Given the description of an element on the screen output the (x, y) to click on. 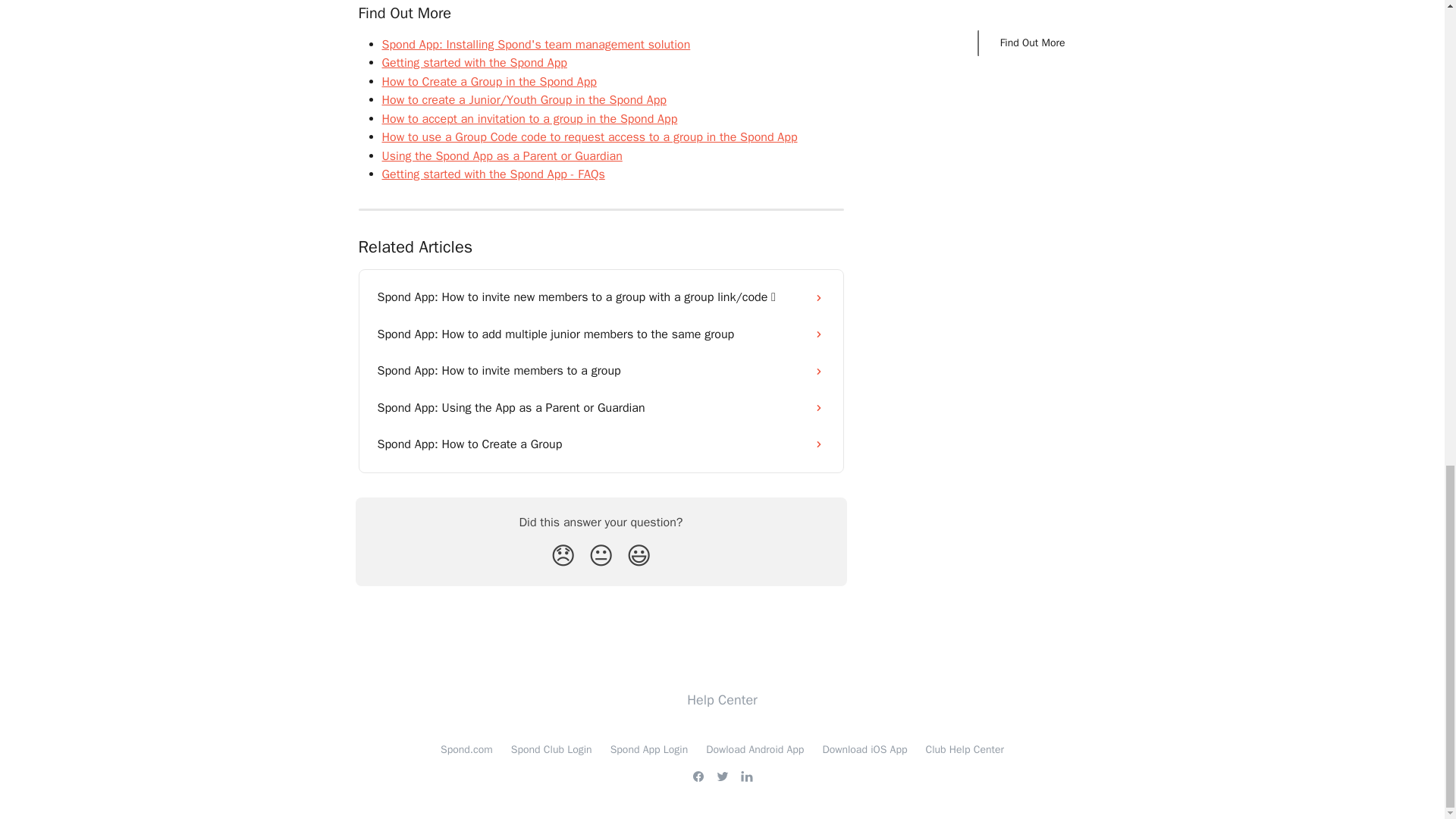
Spond Club Login (551, 748)
Spond.com (467, 748)
Dowload Android App (754, 748)
Spond App: Using the App as a Parent or Guardian (601, 407)
Using the Spond App as a Parent or Guardian (502, 155)
Spond App: Installing Spond's team management solution (535, 44)
Download iOS App (864, 748)
How to Create a Group in the Spond App (488, 81)
How to accept an invitation to a group in the Spond App (529, 118)
